Given the description of an element on the screen output the (x, y) to click on. 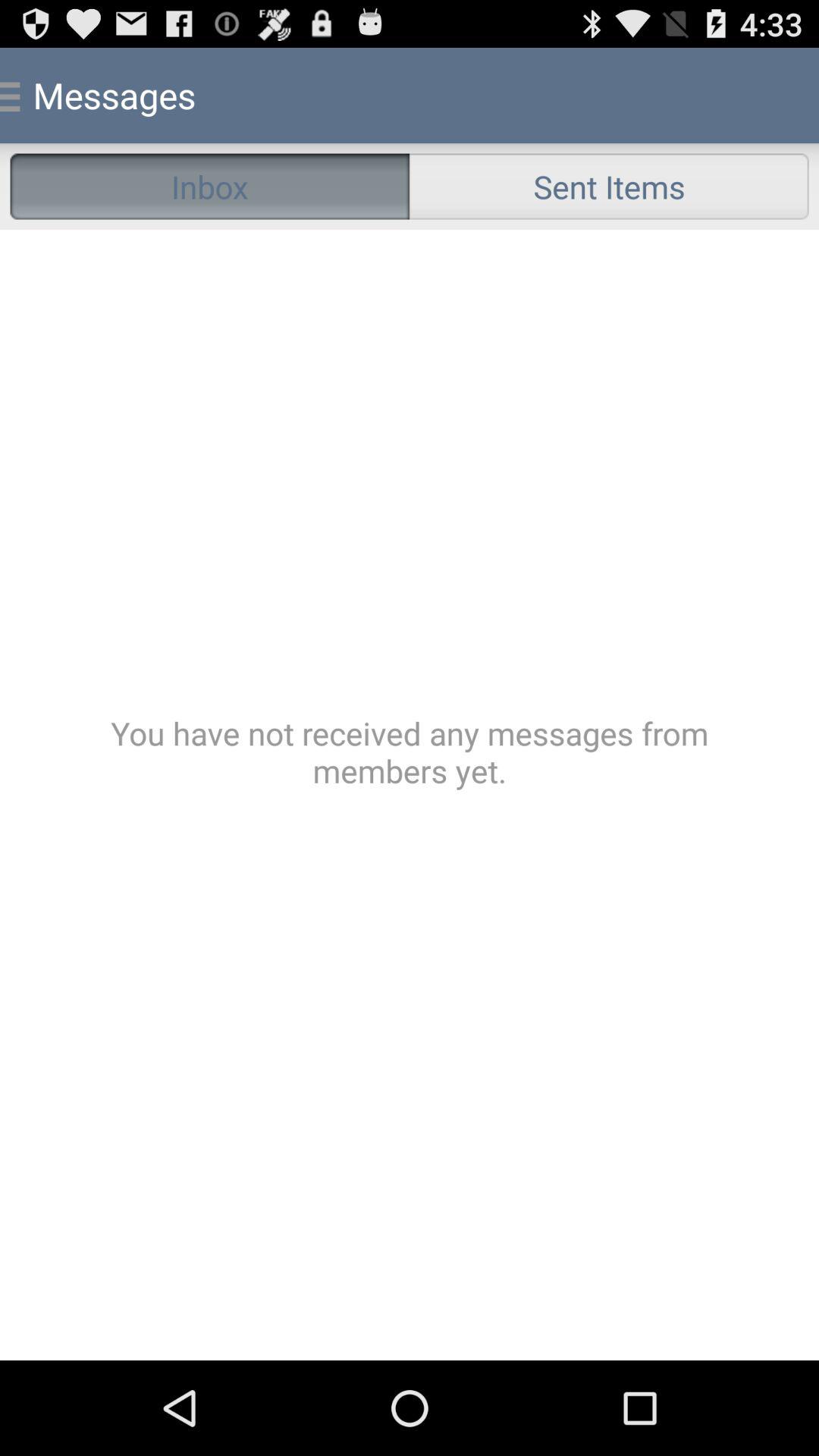
tap icon at the top right corner (608, 186)
